Given the description of an element on the screen output the (x, y) to click on. 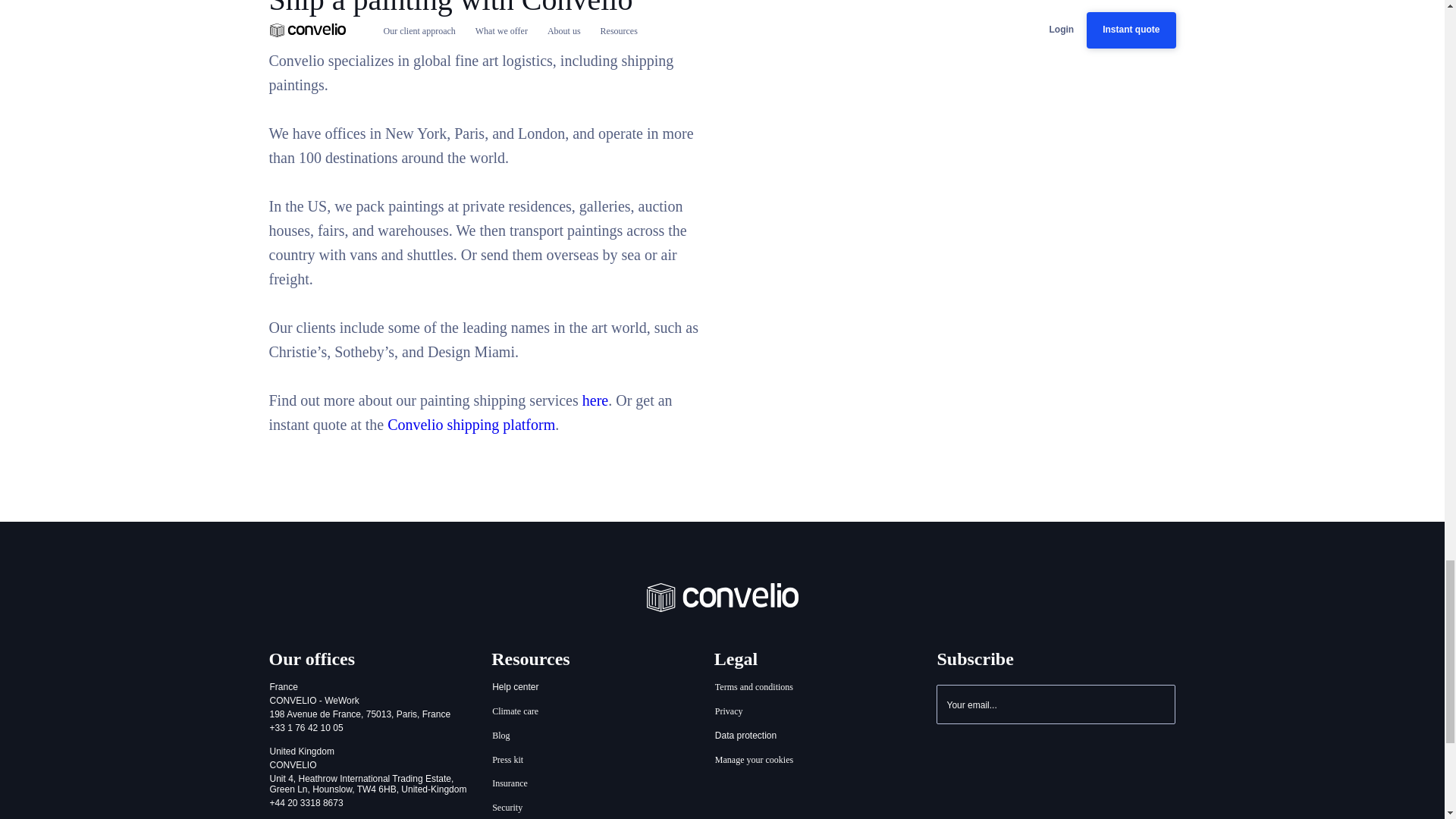
here (595, 400)
Privacy (729, 711)
Convelio shipping platform (470, 424)
Security (507, 808)
Manage your cookies (753, 760)
Climate care (515, 711)
Insurance (510, 784)
Blog (501, 736)
Help center (515, 687)
Data protection (745, 736)
Terms and conditions (753, 687)
Press kit (508, 760)
